Given the description of an element on the screen output the (x, y) to click on. 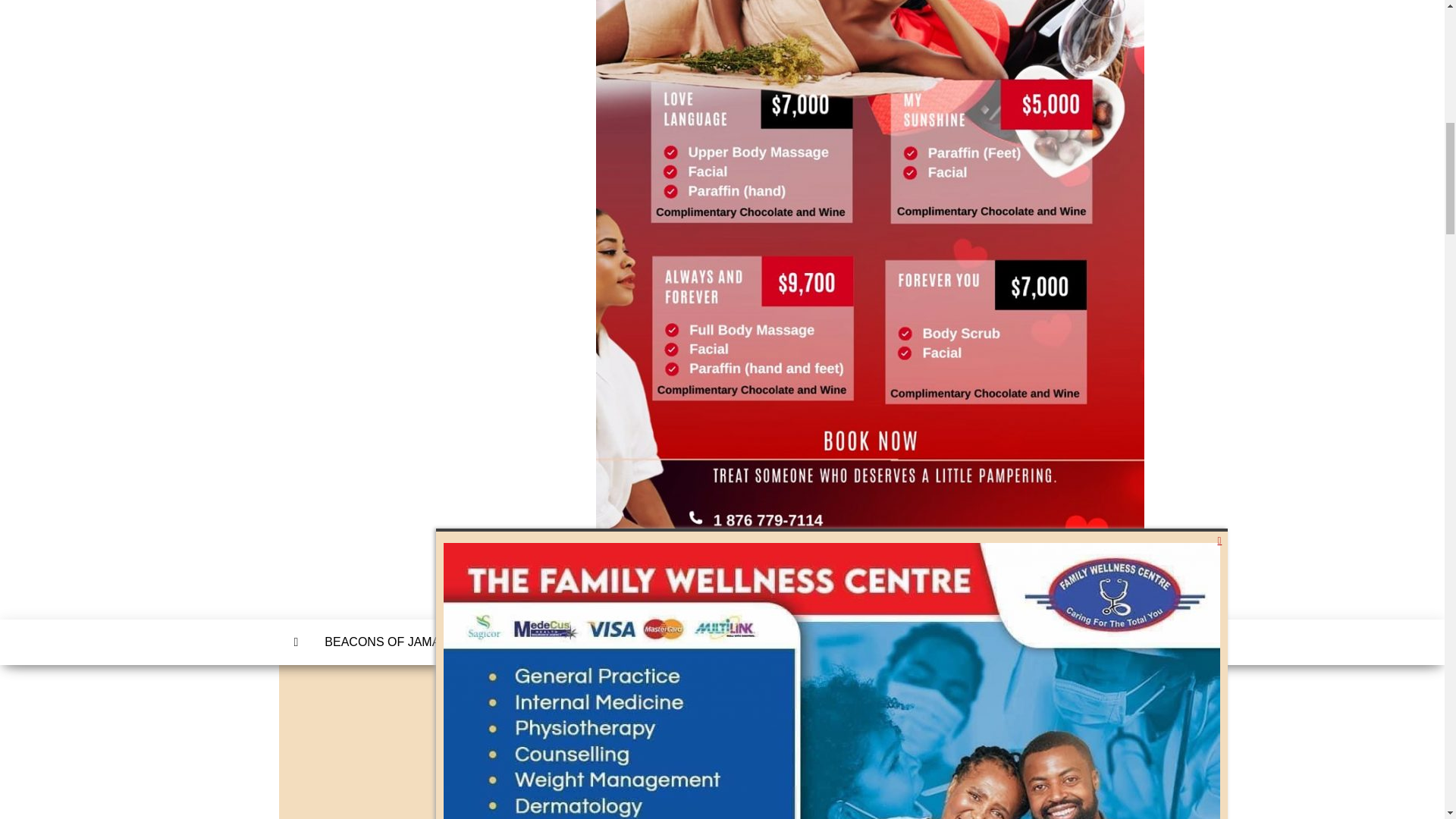
FUNERAL REPORTS (707, 642)
BEACONS OF JAMAICA (392, 642)
BEACONS OF JAMAICA (392, 642)
FUNERAL REPORTS (707, 642)
THE BIG STORY - NEWS (554, 642)
